Given the description of an element on the screen output the (x, y) to click on. 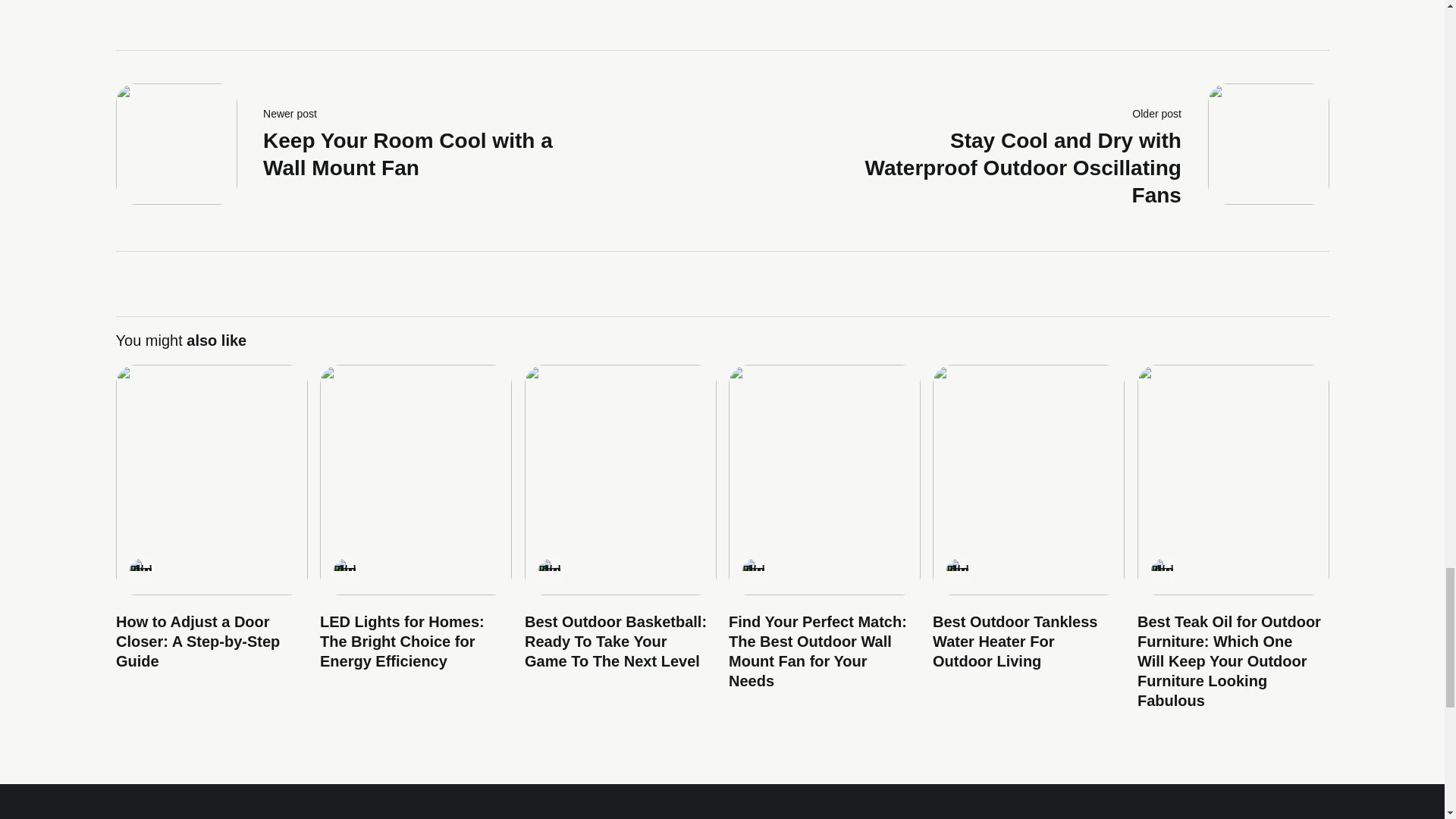
Raihan Uddin (344, 569)
Raihan Uddin (140, 569)
Raihan Uddin (1161, 569)
Raihan Uddin (548, 569)
How to Adjust a Door Closer: A Step-by-Step Guide (197, 641)
Raihan Uddin (957, 569)
Raihan Uddin (357, 150)
